Given the description of an element on the screen output the (x, y) to click on. 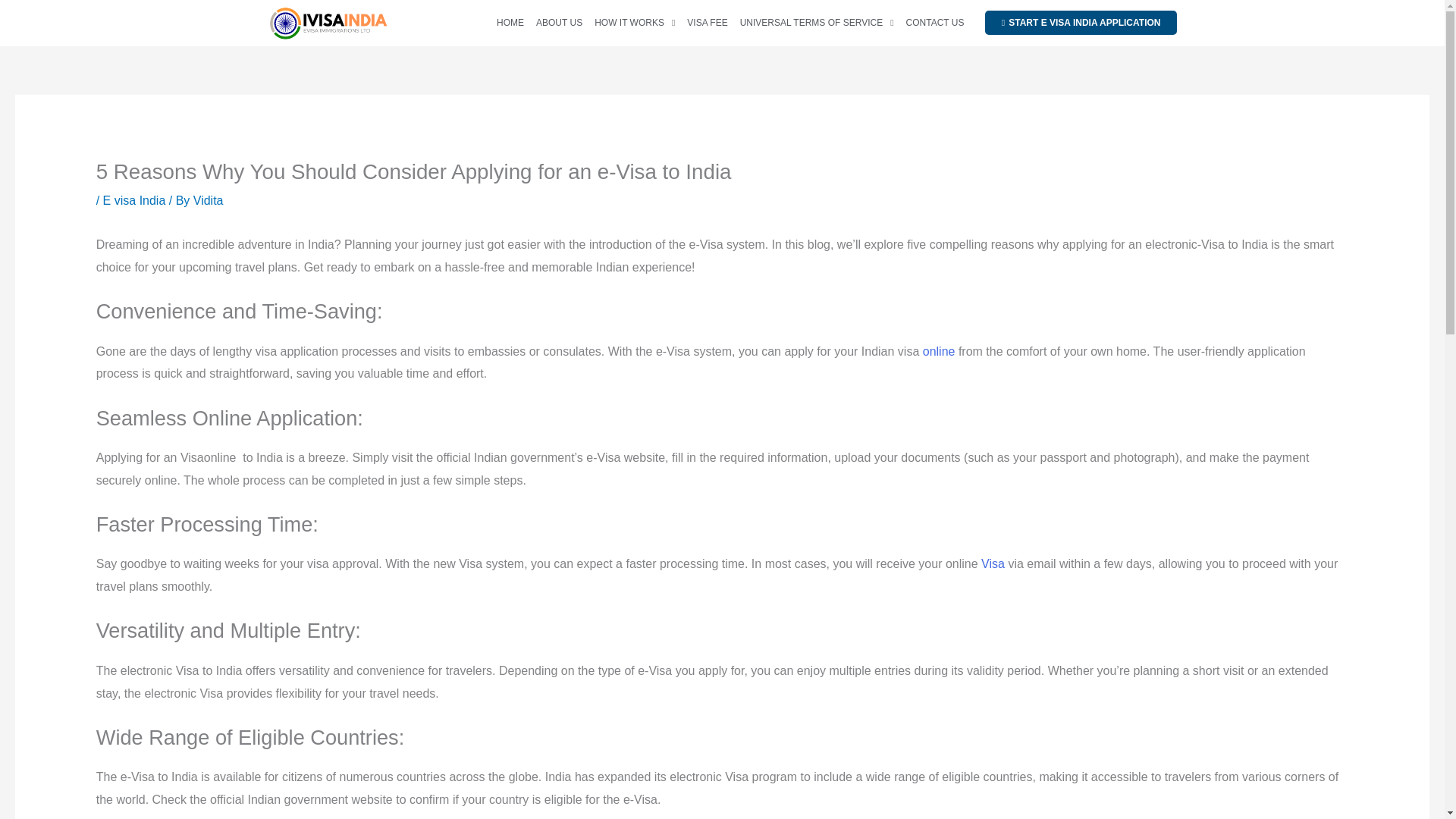
Visa (992, 563)
ABOUT US (559, 22)
View all posts by Vidita (208, 200)
online (939, 350)
VISA FEE (706, 22)
UNIVERSAL TERMS OF SERVICE (817, 22)
HOW IT WORKS (634, 22)
START E VISA INDIA APPLICATION (1081, 22)
HOME (510, 22)
Vidita (208, 200)
E visa India (134, 200)
CONTACT US (935, 22)
